Given the description of an element on the screen output the (x, y) to click on. 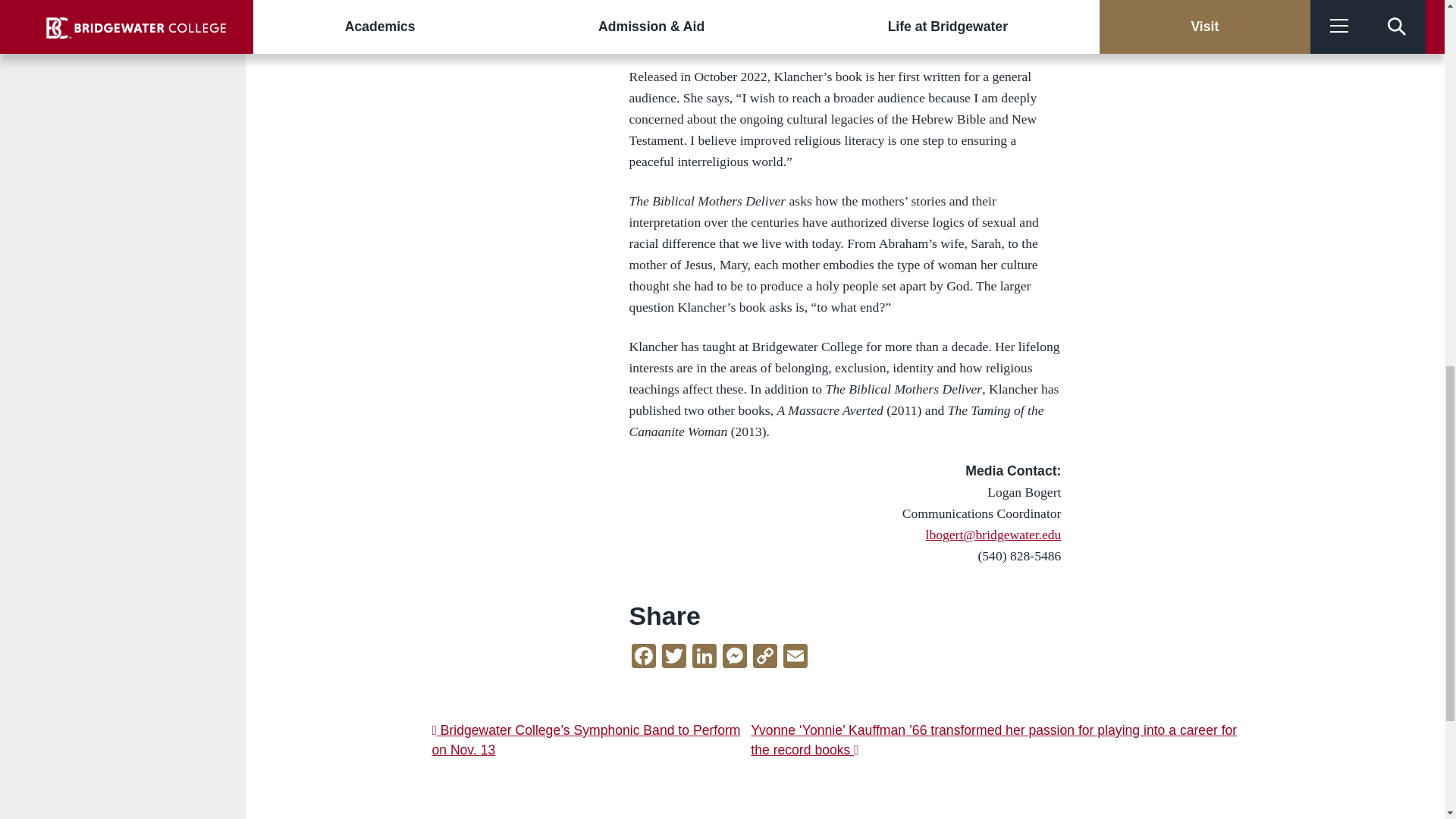
LinkedIn (703, 657)
Facebook (643, 657)
Email (795, 657)
Messenger (734, 657)
Twitter (673, 657)
Copy Link (764, 657)
